Given the description of an element on the screen output the (x, y) to click on. 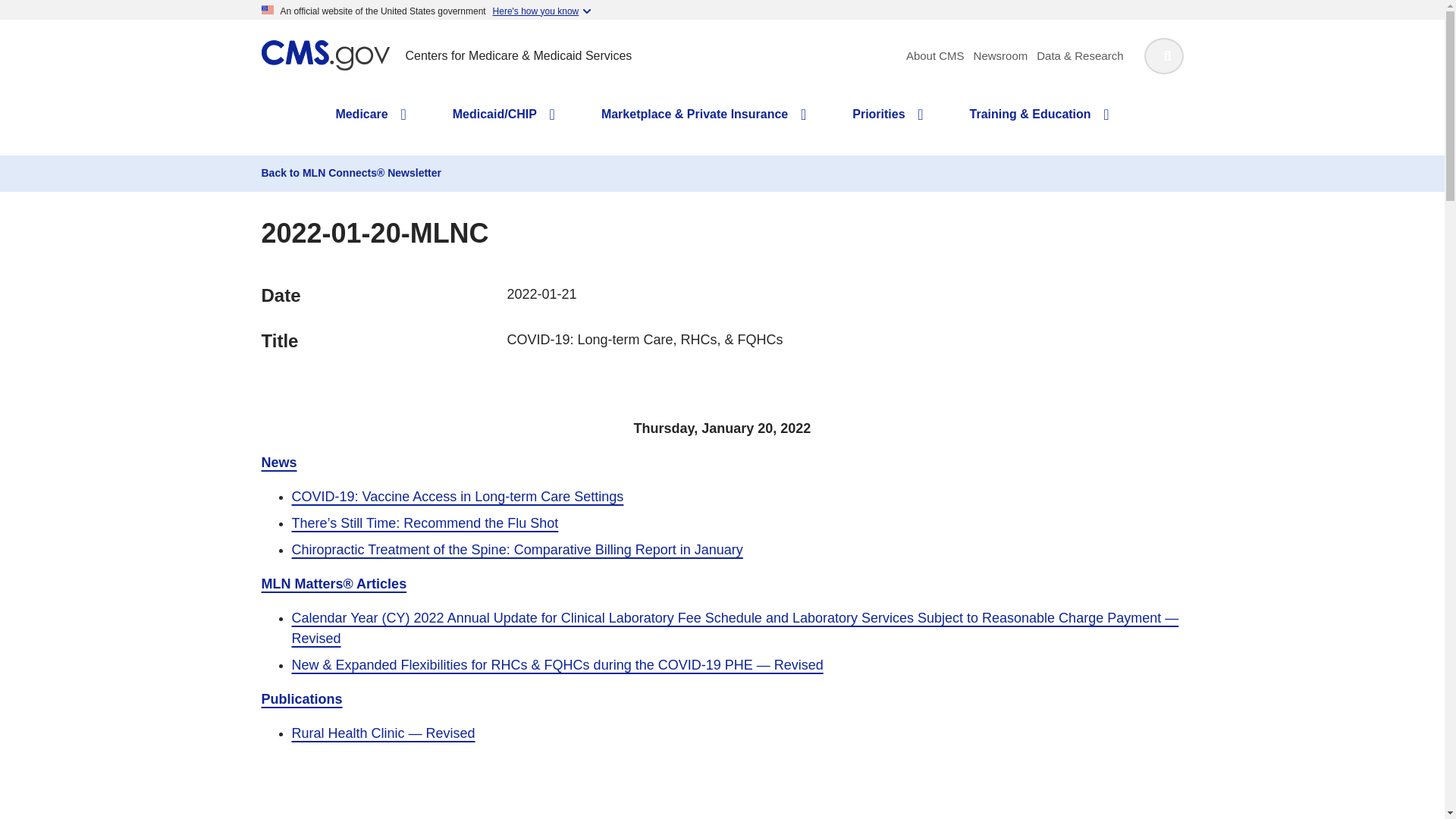
Search (1162, 55)
Here's how you know (542, 9)
Newsroom (1000, 55)
About CMS (934, 55)
Search (1162, 55)
